Given the description of an element on the screen output the (x, y) to click on. 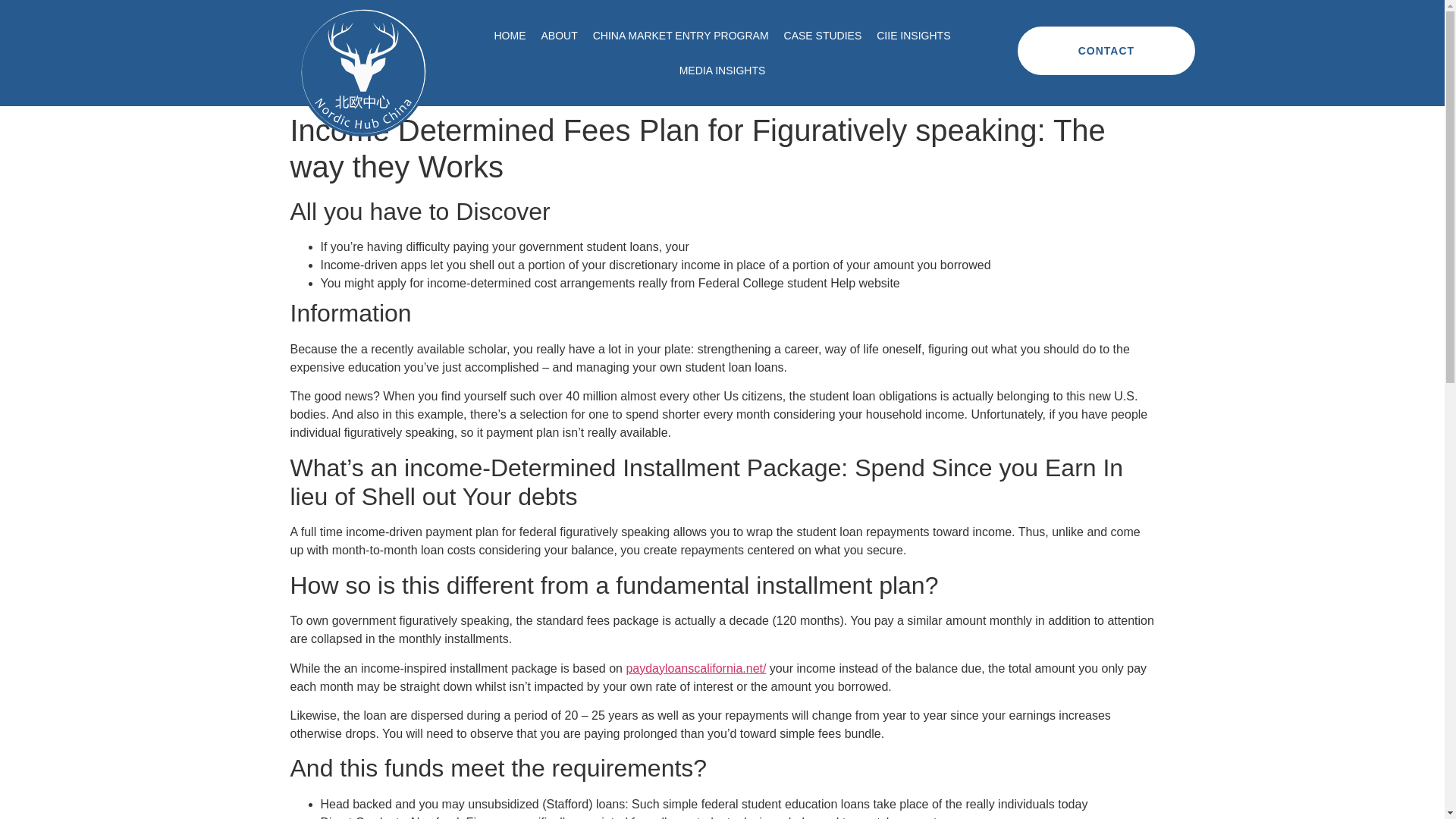
CHINA MARKET ENTRY PROGRAM (680, 35)
HOME (509, 35)
ABOUT (558, 35)
CONTACT (1105, 50)
CIIE INSIGHTS (913, 35)
MEDIA INSIGHTS (722, 70)
CASE STUDIES (822, 35)
